Given the description of an element on the screen output the (x, y) to click on. 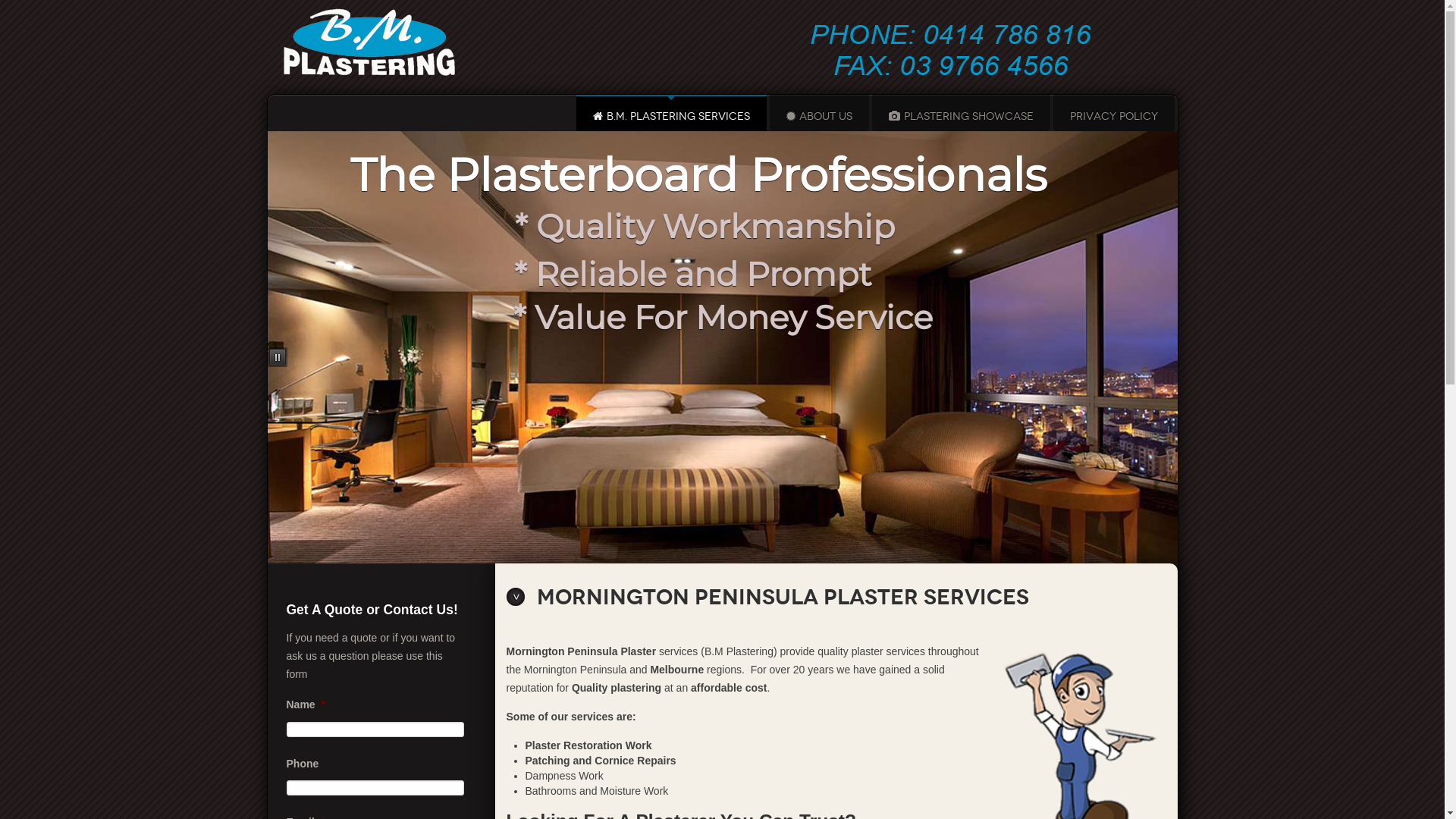
ABOUT US Element type: text (818, 116)
B.M. PLASTERING SERVICES Element type: text (671, 116)
The Plasterboard Professionals Element type: text (697, 174)
PRIVACY POLICY Element type: text (1112, 116)
PLASTERING SHOWCASE Element type: text (961, 116)
